Given the description of an element on the screen output the (x, y) to click on. 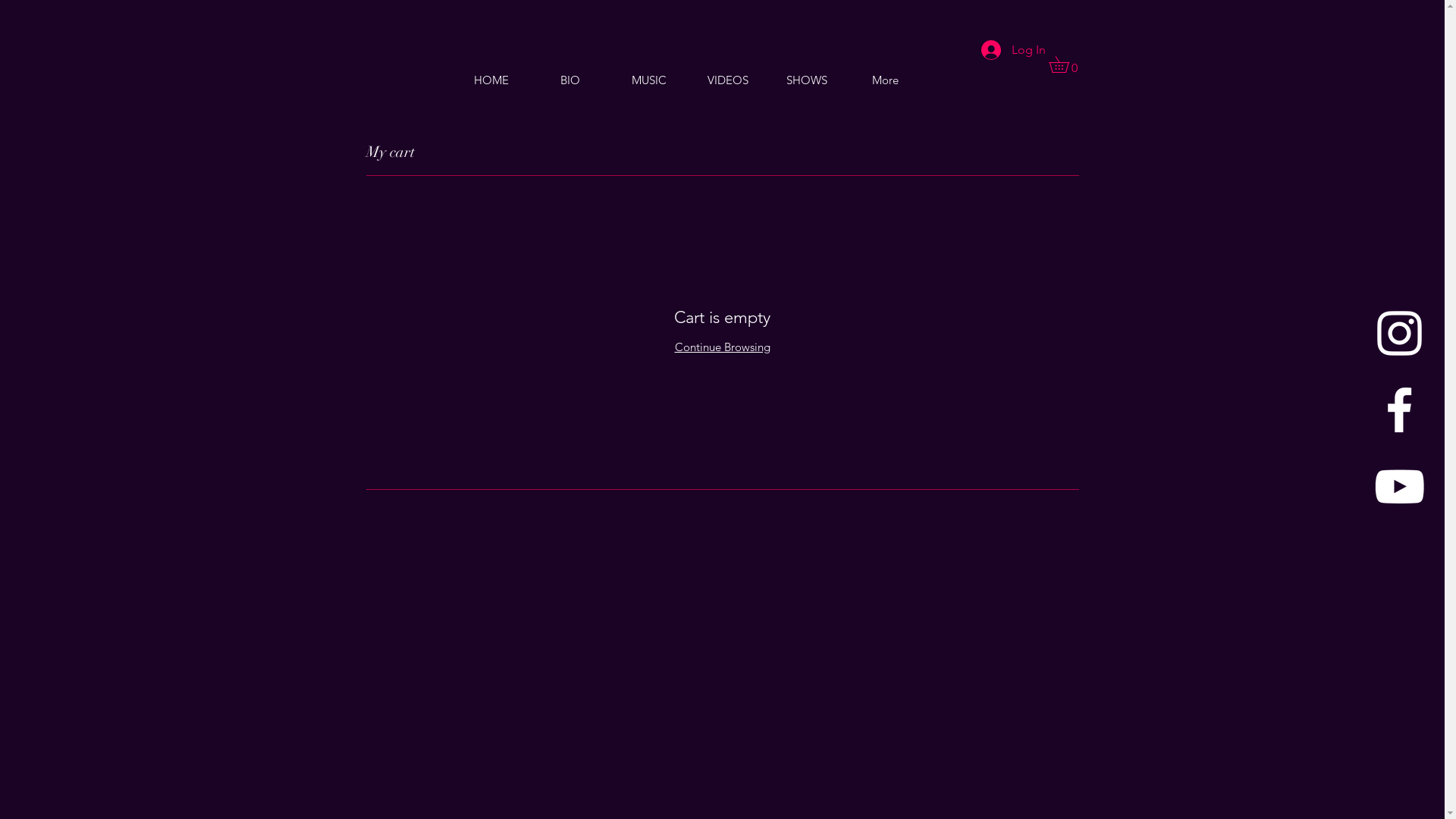
Continue Browsing Element type: text (722, 346)
MUSIC Element type: text (648, 80)
VIDEOS Element type: text (727, 80)
BIO Element type: text (569, 80)
Log In Element type: text (1013, 49)
0 Element type: text (1066, 64)
SHOWS Element type: text (806, 80)
HOME Element type: text (490, 80)
